Given the description of an element on the screen output the (x, y) to click on. 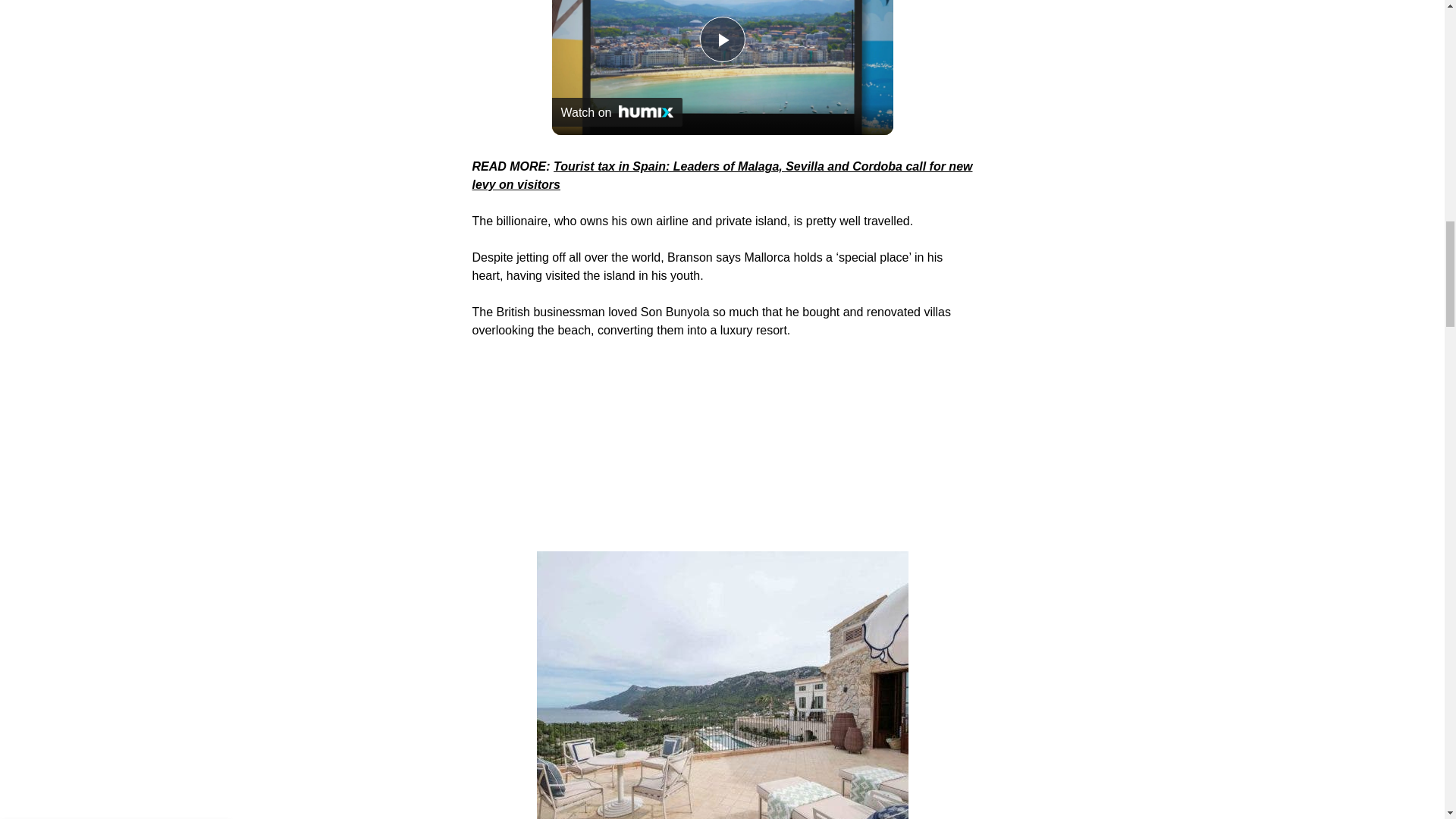
Play Video (721, 39)
